Given the description of an element on the screen output the (x, y) to click on. 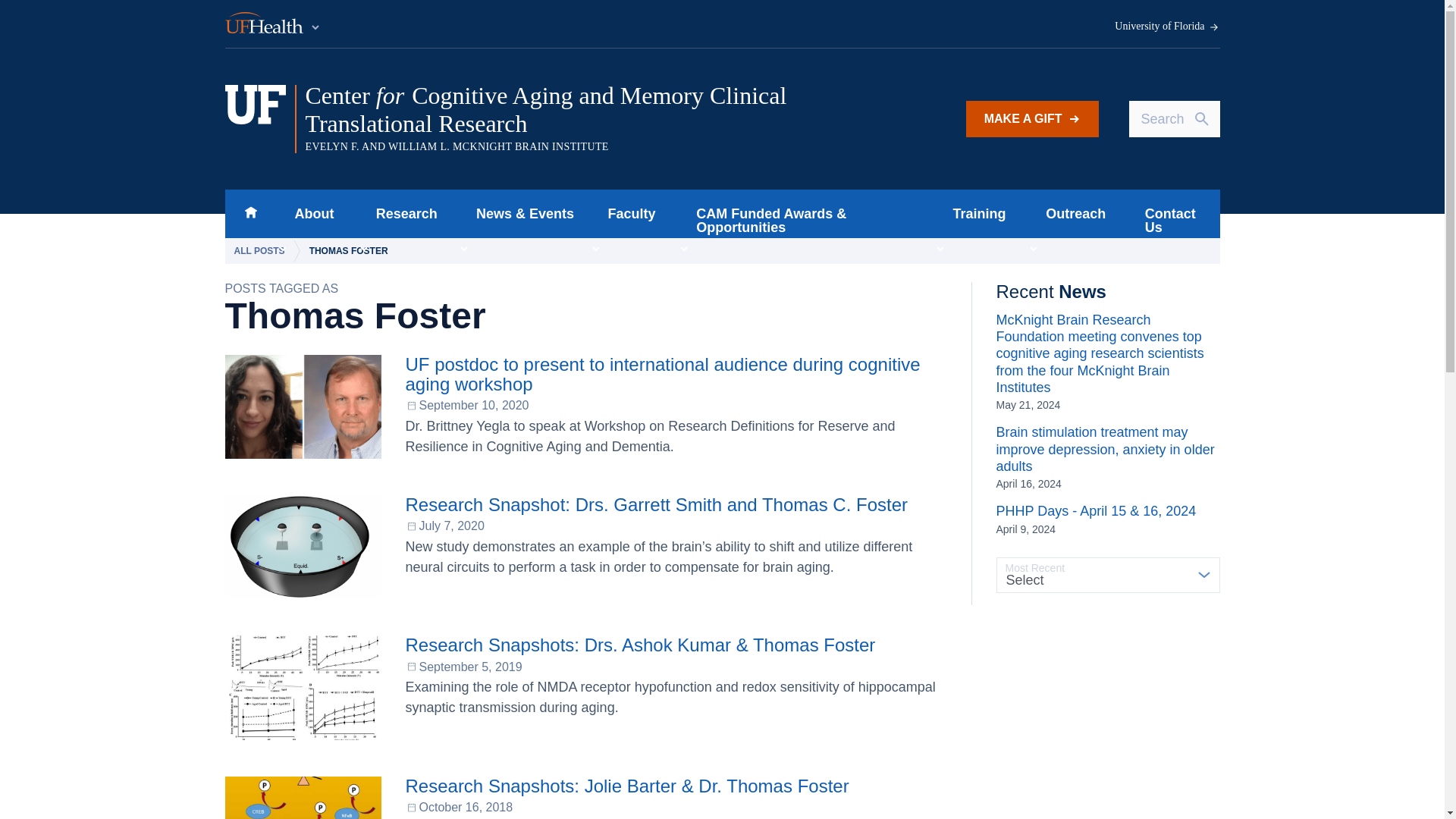
UF Health (272, 24)
University of Florida (1167, 26)
Home (250, 213)
About (309, 213)
MAKE A GIFT (1032, 118)
Faculty (627, 213)
Research (402, 213)
